Given the description of an element on the screen output the (x, y) to click on. 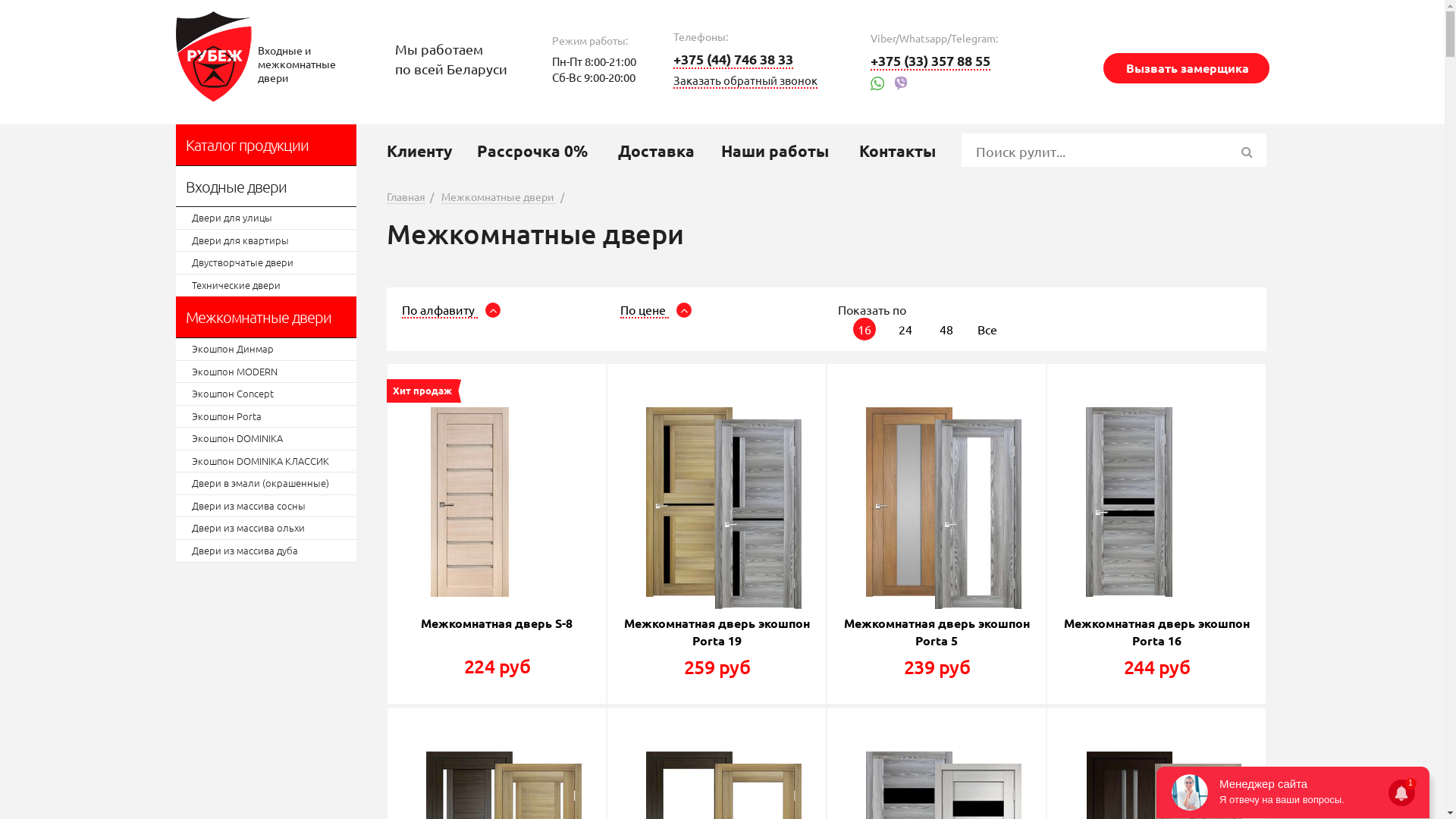
24 Element type: text (905, 328)
48 Element type: text (946, 328)
+375 (33) 357 88 55 Element type: text (930, 60)
16 Element type: text (864, 328)
+375 (44) 746 38 33 Element type: text (733, 59)
